Given the description of an element on the screen output the (x, y) to click on. 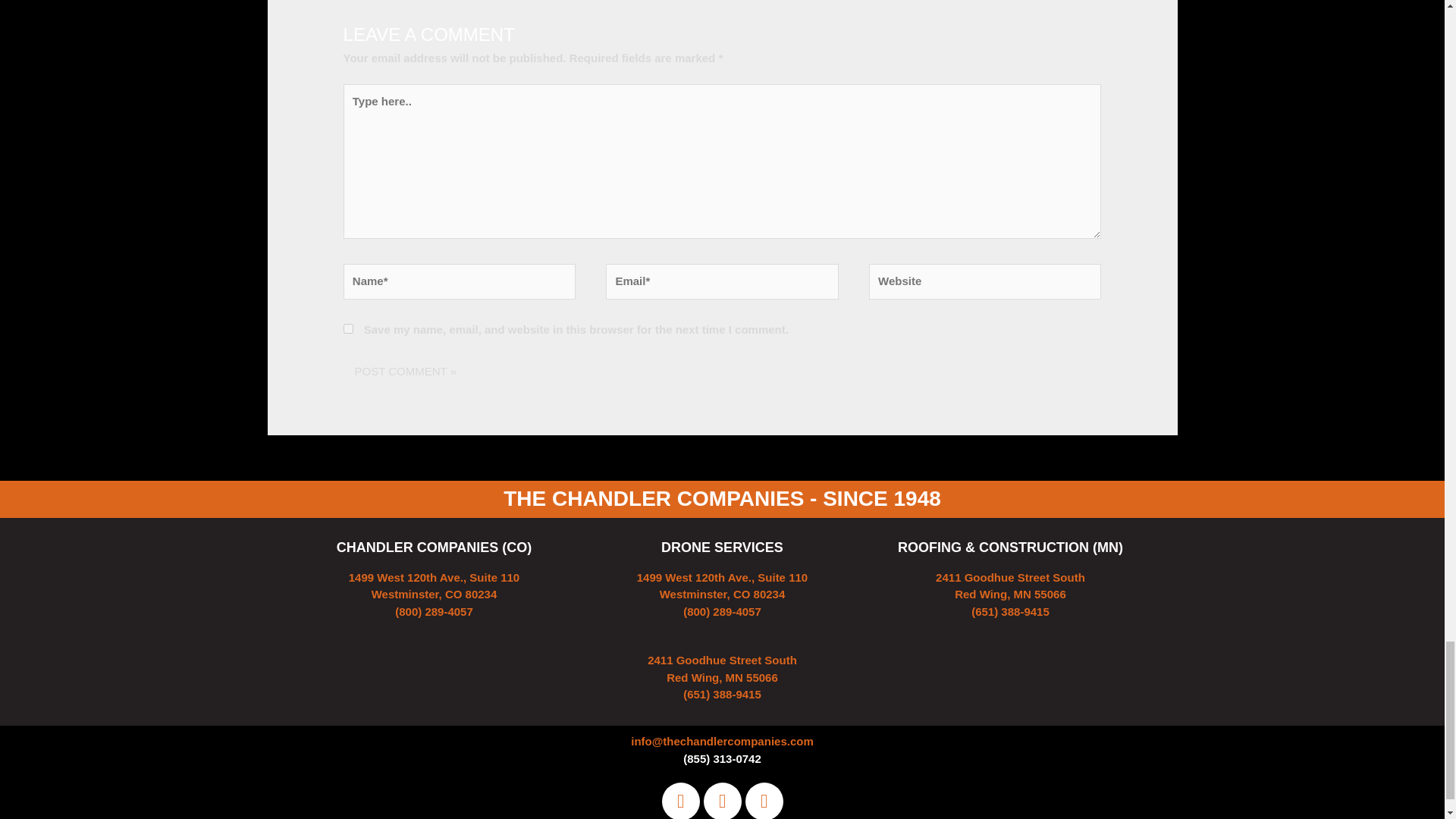
yes (348, 328)
